Given the description of an element on the screen output the (x, y) to click on. 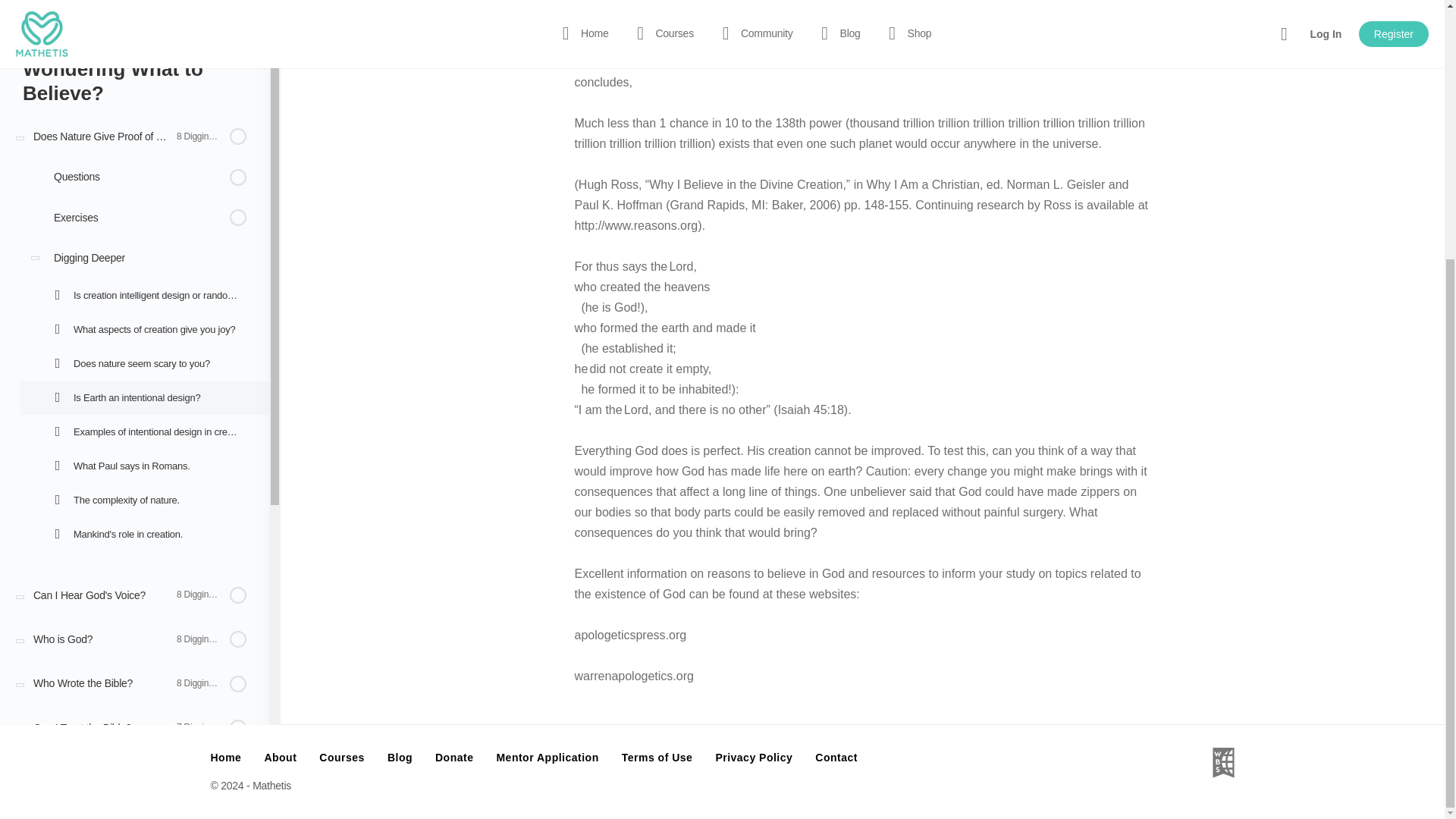
Is Earth an intentional design? (144, 28)
What Paul says in Romans. (144, 96)
Does nature seem scary to you? (144, 5)
Examples of intentional design in creation. (144, 61)
Mankind's role in creation. (144, 164)
Examples of intentional design in creation. (144, 61)
Does nature seem scary to you? (144, 5)
What Paul says in Romans. (144, 96)
The complexity of nature. (144, 130)
Can I Hear God's Voice? (134, 224)
